Given the description of an element on the screen output the (x, y) to click on. 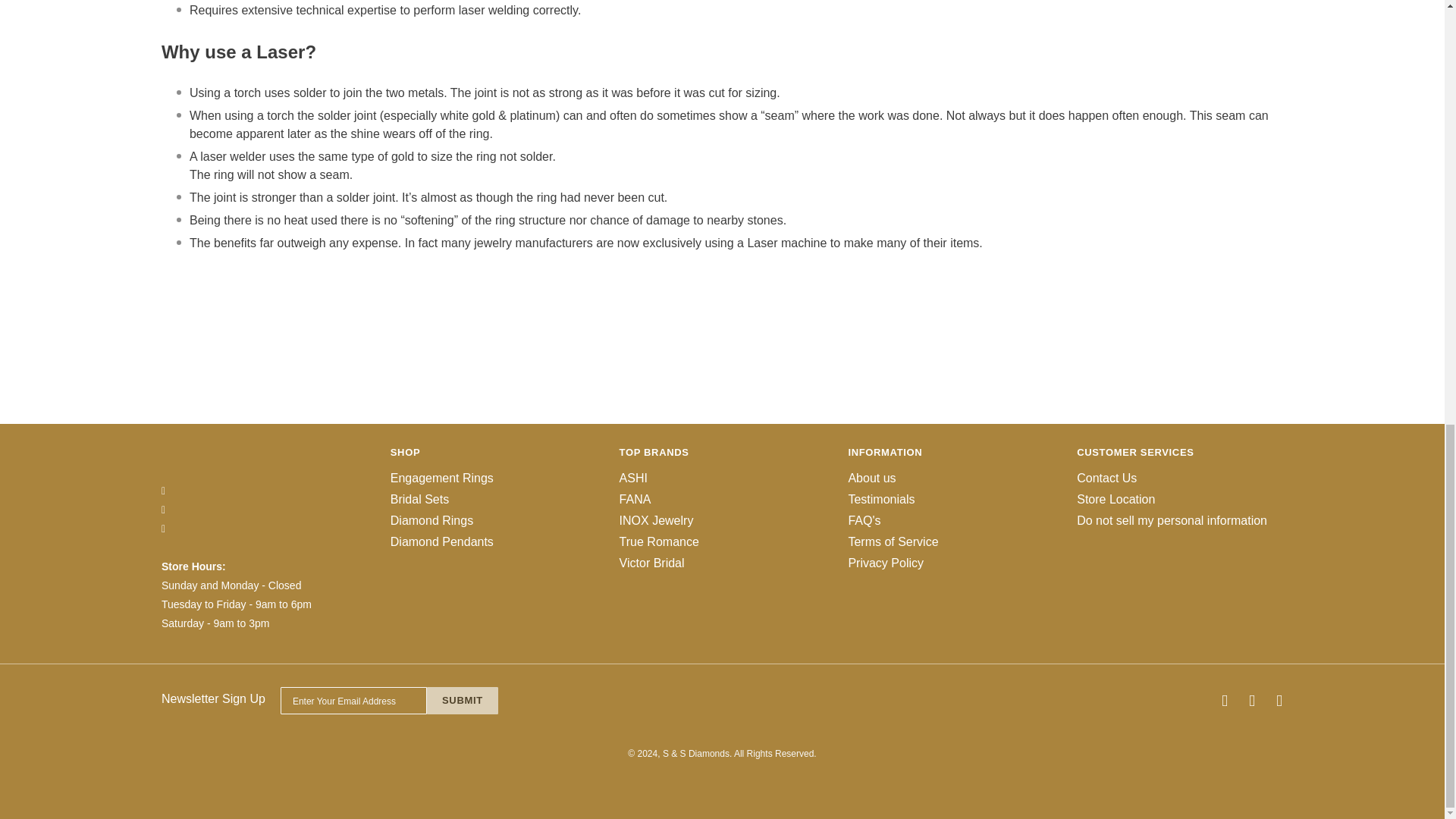
Submit (461, 700)
